Given the description of an element on the screen output the (x, y) to click on. 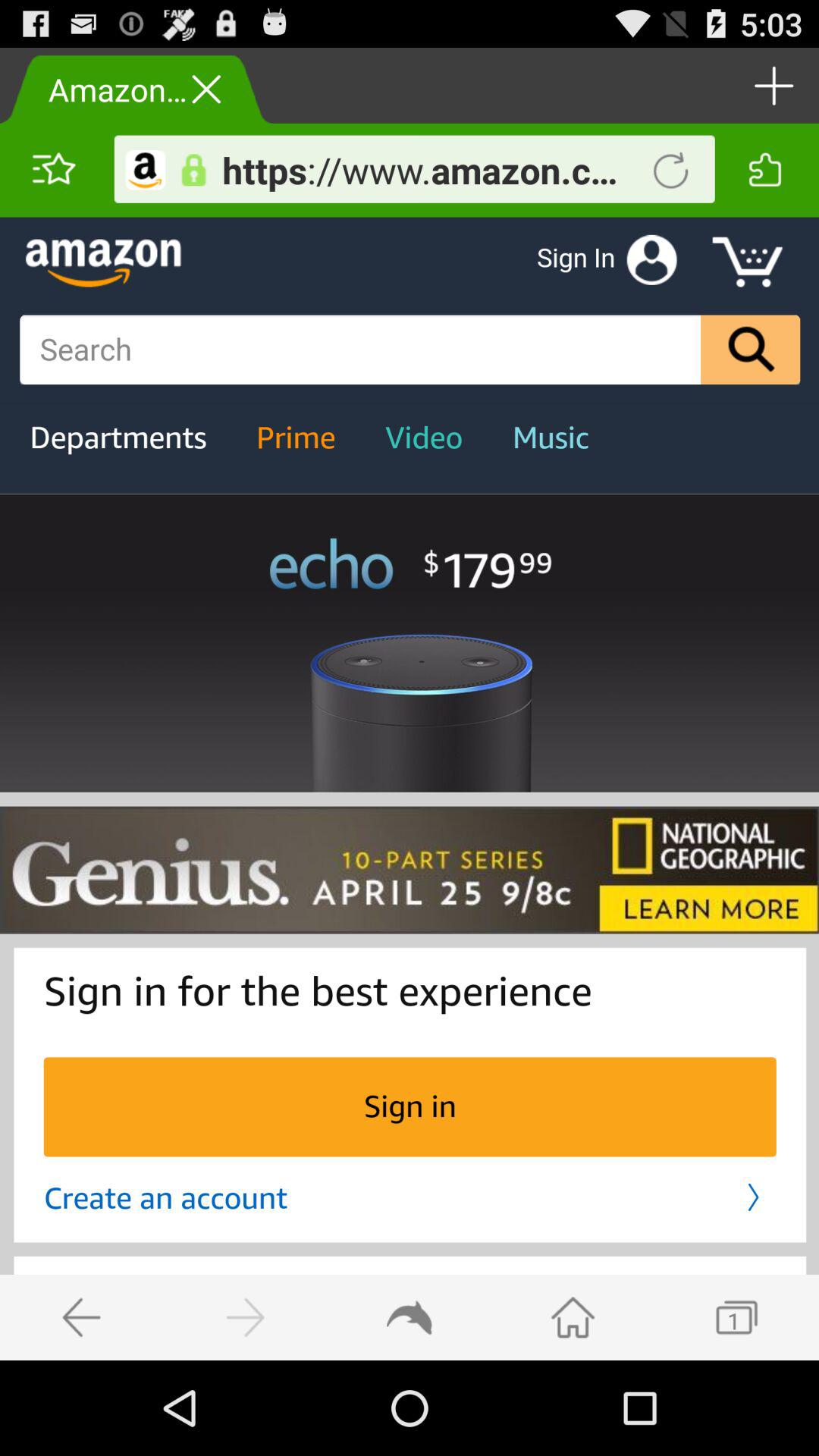
screen page (409, 788)
